Given the description of an element on the screen output the (x, y) to click on. 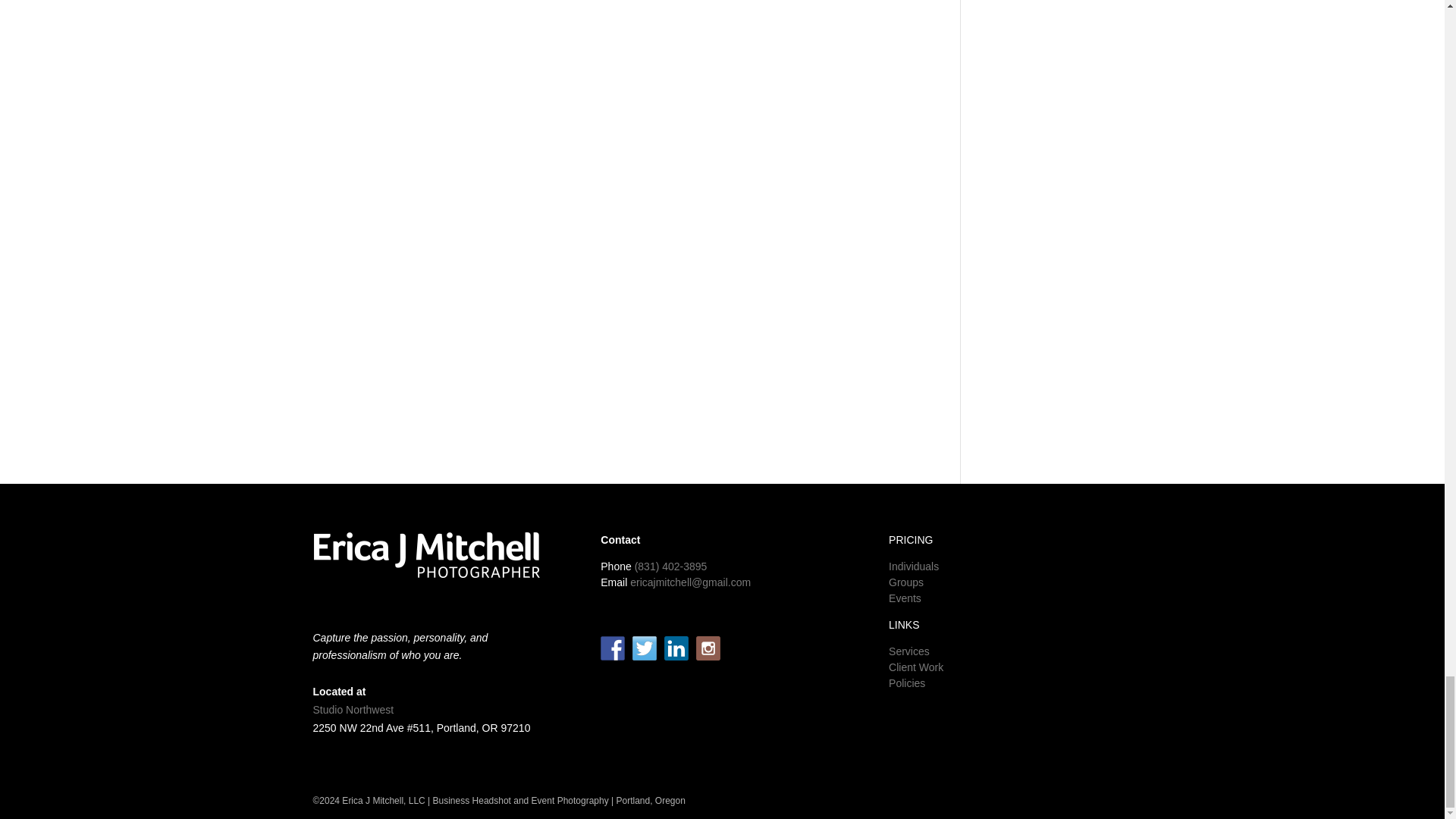
Follow us on Facebook (611, 648)
Follow us on Twitter (643, 648)
Check out our instagram feed (707, 648)
Find us on Linkedin (675, 648)
